Given the description of an element on the screen output the (x, y) to click on. 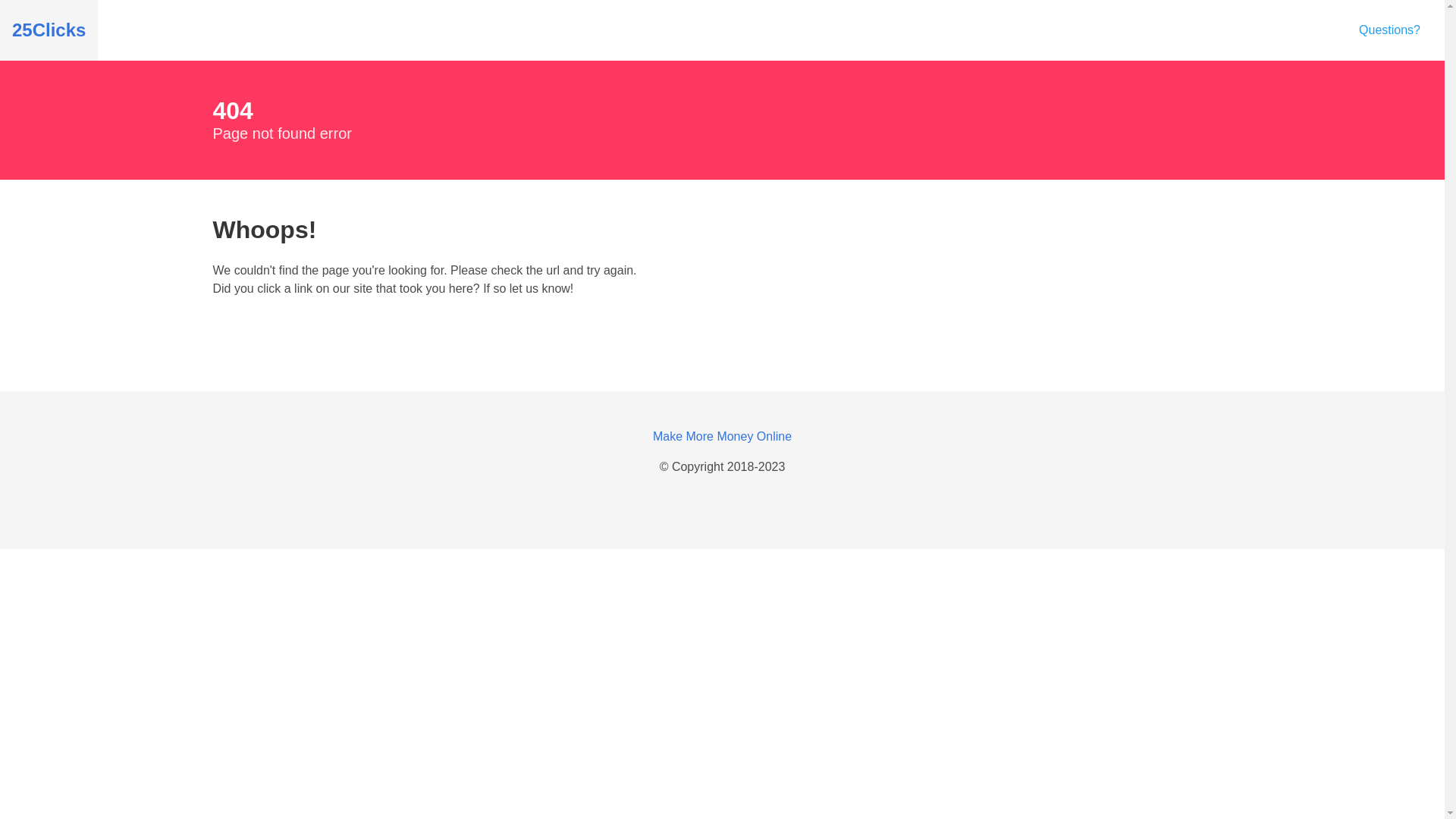
Make More Money Online Element type: text (721, 435)
Questions? Element type: text (1389, 30)
25Clicks Element type: text (48, 30)
